Given the description of an element on the screen output the (x, y) to click on. 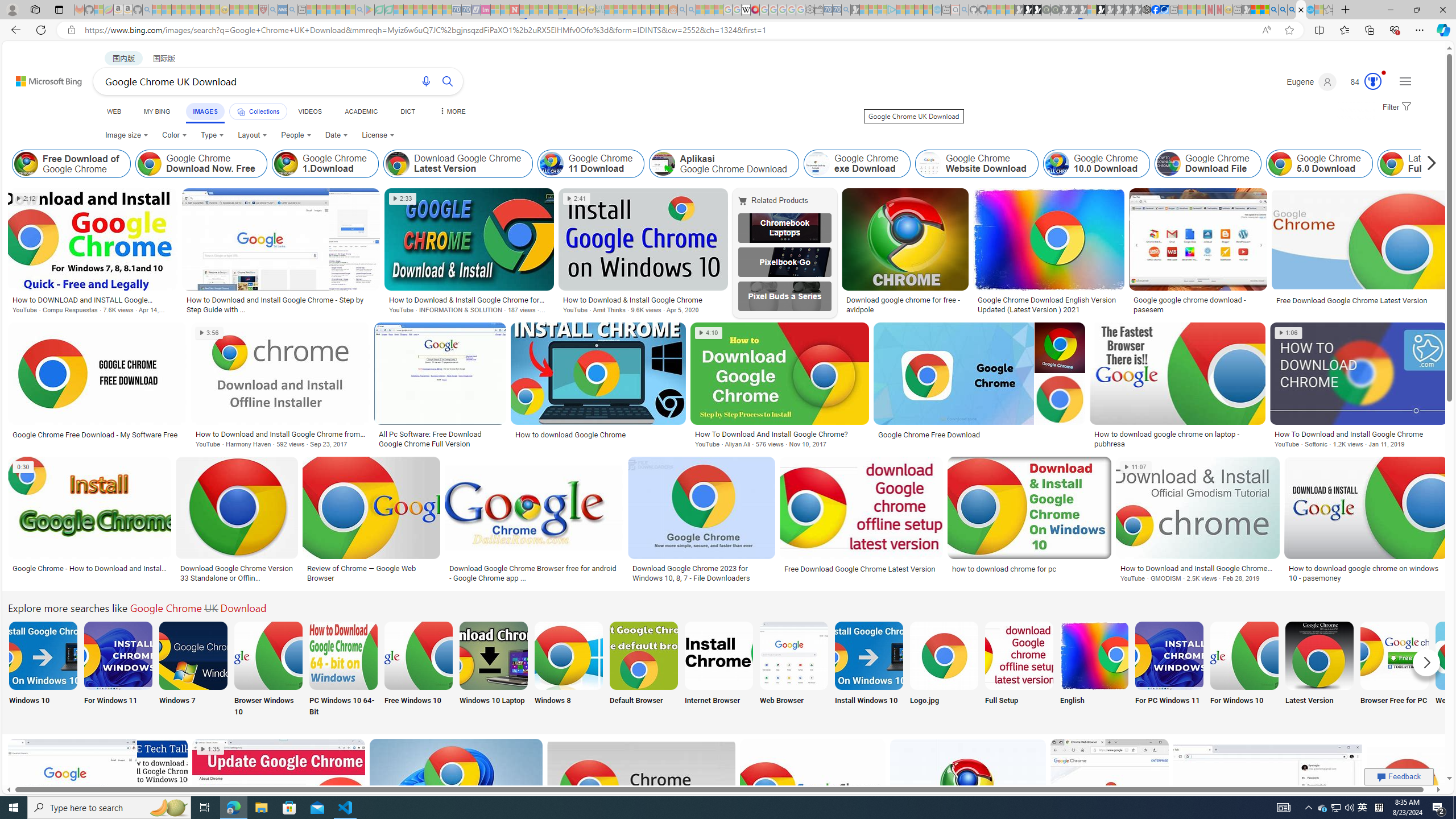
Image size (127, 135)
Browser Free for PC (1393, 669)
2:41 (576, 198)
Google Chrome Logo Jpg Download Logo.jpg (944, 669)
Google Chrome exe Download (817, 163)
How to Download & Install Google Chrome for Pc (468, 299)
DICT (407, 111)
1:35 (209, 748)
People (295, 135)
3:56 (209, 332)
